Given the description of an element on the screen output the (x, y) to click on. 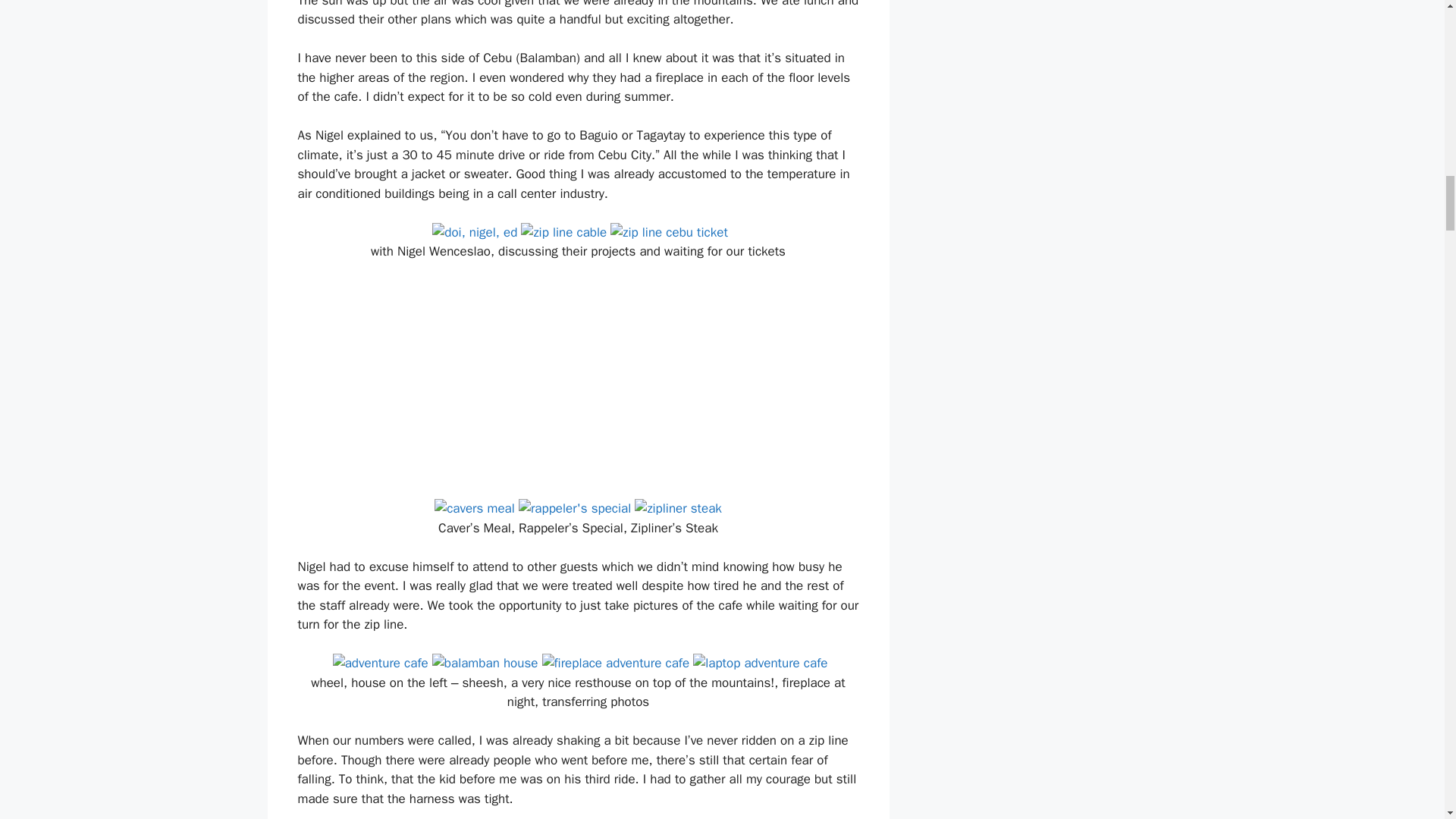
rappeler's special (574, 508)
adventure cafe (380, 663)
doi, nigel, ed (474, 232)
zipliner steak (677, 508)
zip line cable  (564, 232)
zip line cebu ticket (669, 232)
balamban house (485, 663)
cavers meal (474, 508)
